Given the description of an element on the screen output the (x, y) to click on. 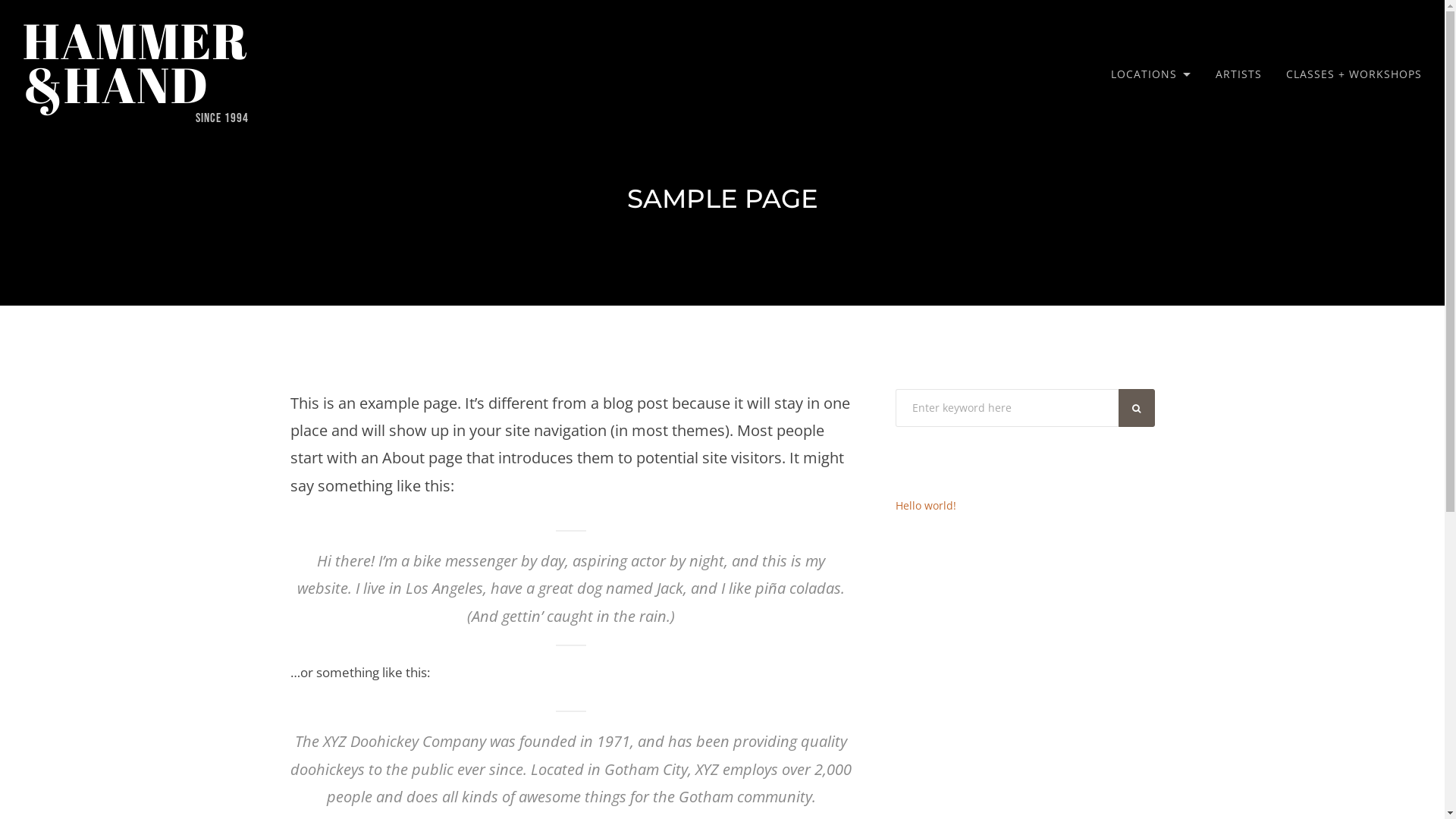
HAMMER
&HAND Element type: text (135, 62)
SEARCH Element type: text (1136, 407)
LOCATIONS Element type: text (1150, 74)
ARTISTS Element type: text (1238, 74)
CLASSES + WORKSHOPS Element type: text (1354, 74)
Hello world! Element type: text (924, 505)
